Given the description of an element on the screen output the (x, y) to click on. 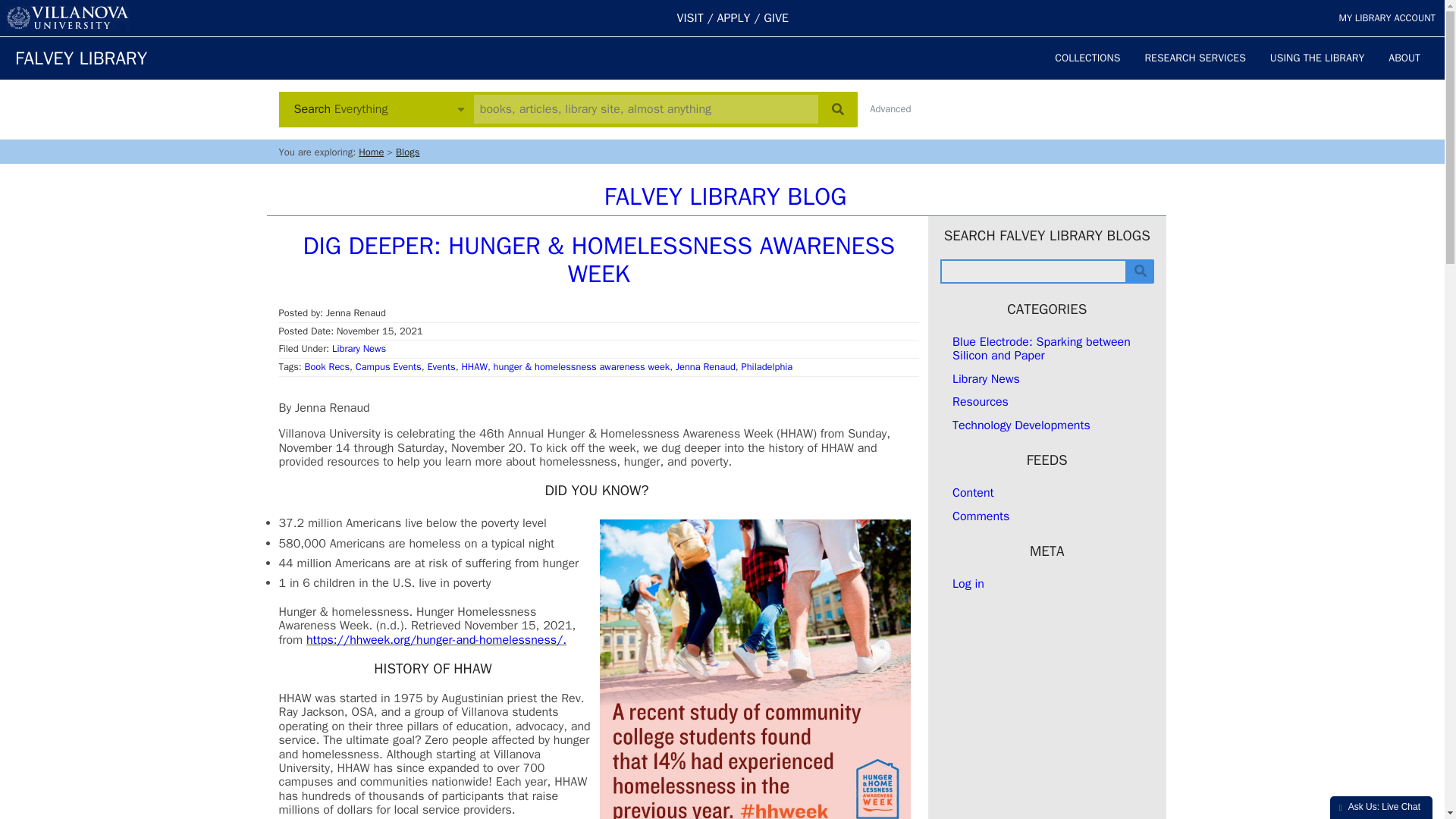
Jenna Renaud (705, 367)
APPLY (734, 17)
FALVEY LIBRARY (80, 57)
Library News (358, 348)
Syndicate this site using RSS (973, 492)
ABOUT (1403, 57)
Home (371, 151)
Book Recs (327, 367)
Blogs (407, 151)
MY LIBRARY ACCOUNT (1386, 18)
